Given the description of an element on the screen output the (x, y) to click on. 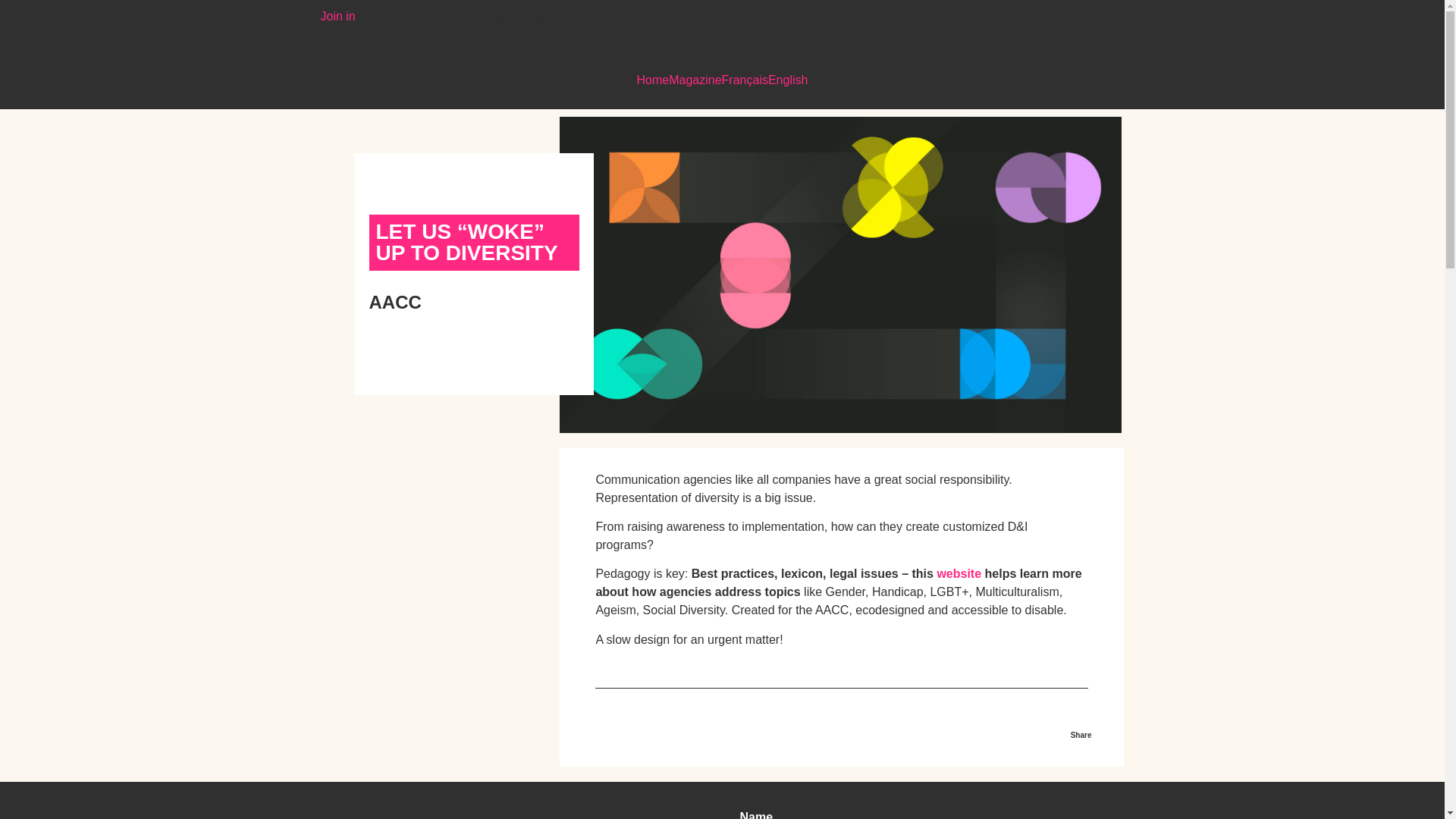
Home (653, 80)
English (788, 80)
Join in (337, 16)
Magazine (694, 80)
Subscribe (898, 453)
Roseponsable (534, 19)
website (958, 573)
